Given the description of an element on the screen output the (x, y) to click on. 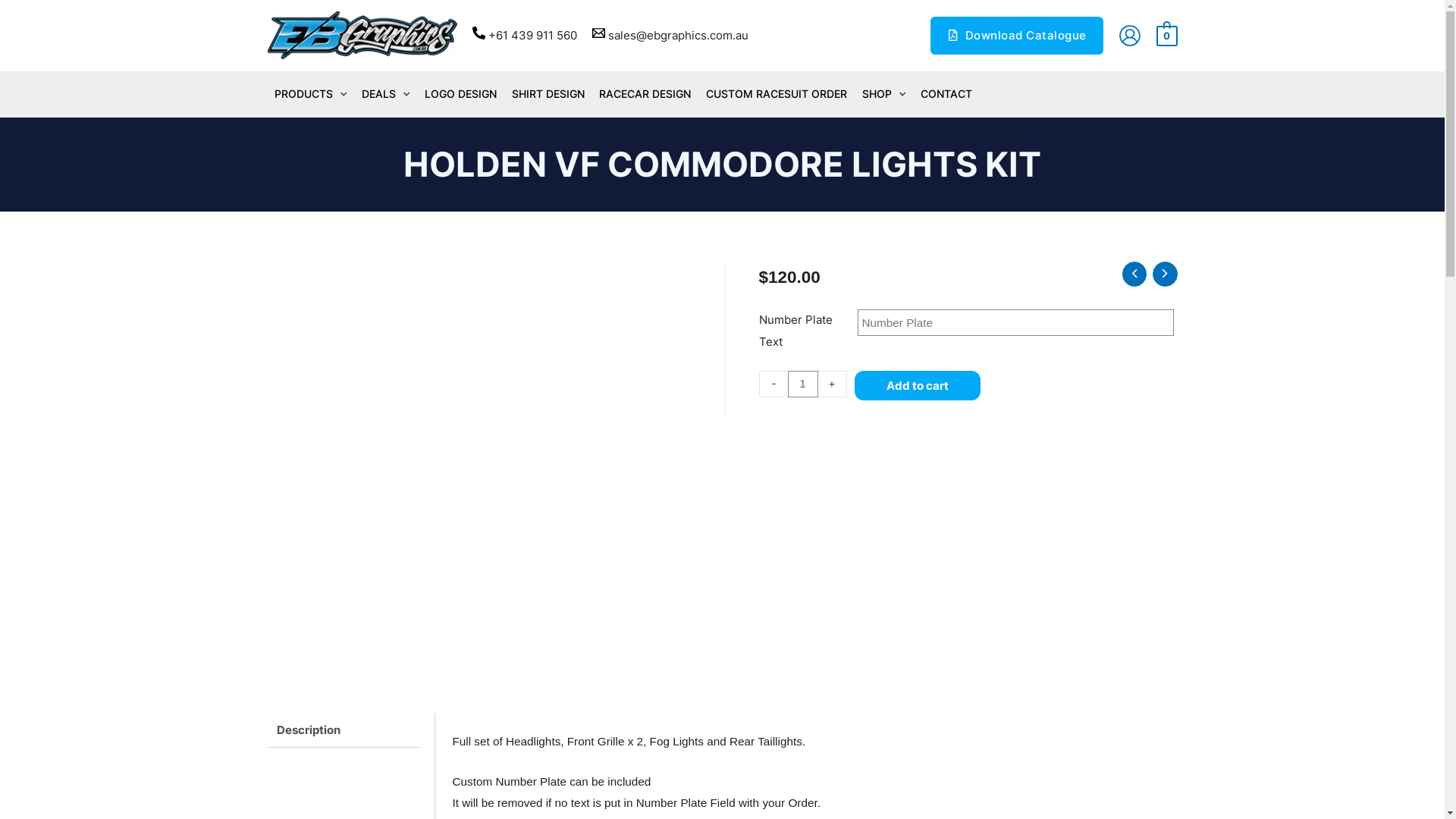
SHIRT DESIGN Element type: text (548, 93)
Download Catalogue Element type: text (1016, 35)
Description Element type: text (342, 729)
+ Element type: text (832, 383)
Add to cart Element type: text (917, 385)
CONTACT Element type: text (946, 93)
LOGO DESIGN Element type: text (460, 93)
0 Element type: text (1166, 35)
PRODUCTS Element type: text (310, 93)
RACECAR DESIGN Element type: text (645, 93)
- Element type: text (772, 383)
DEALS Element type: text (385, 93)
SHOP Element type: text (883, 93)
CUSTOM RACESUIT ORDER Element type: text (776, 93)
